Given the description of an element on the screen output the (x, y) to click on. 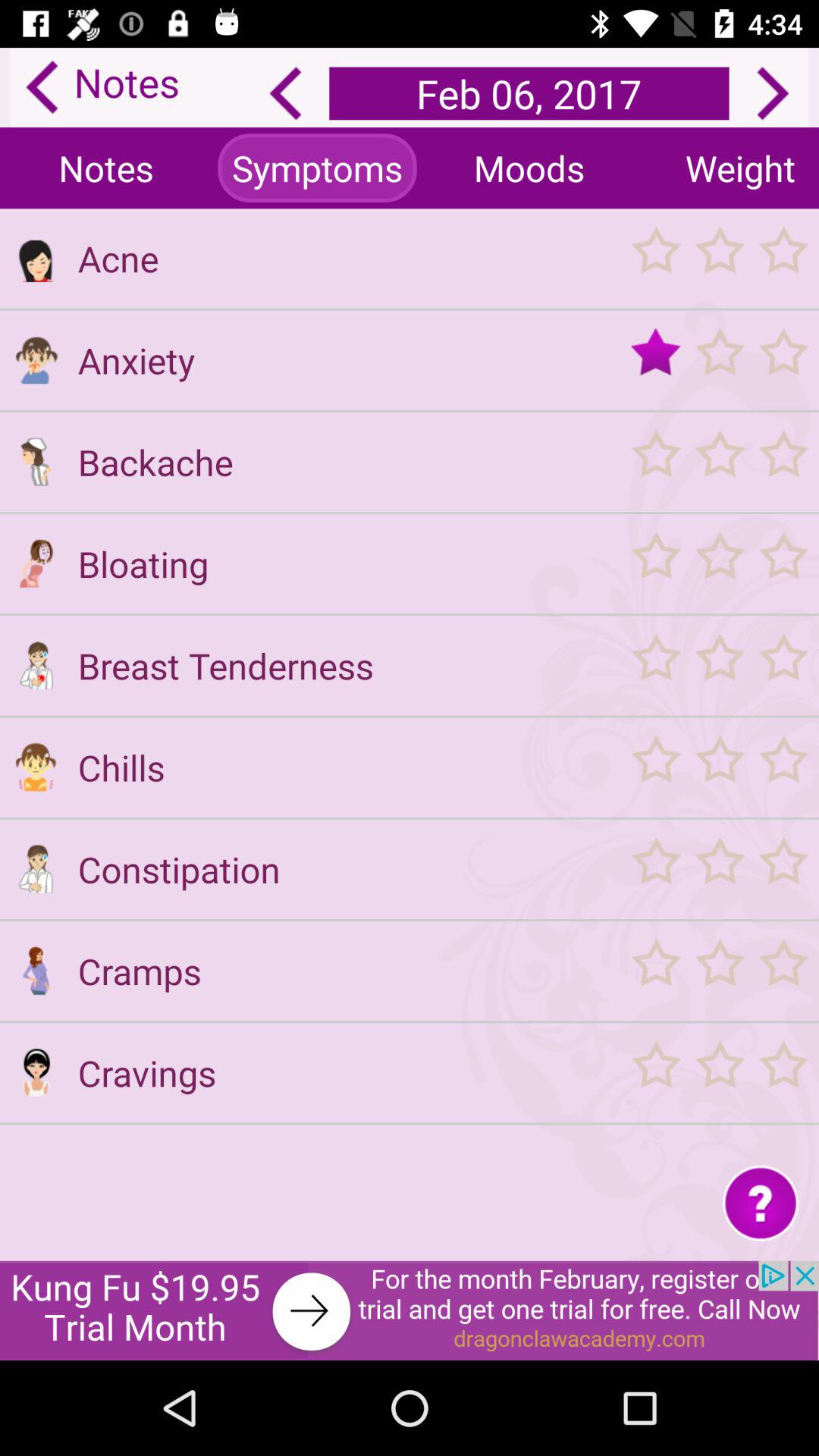
anxiety description (35, 359)
